Given the description of an element on the screen output the (x, y) to click on. 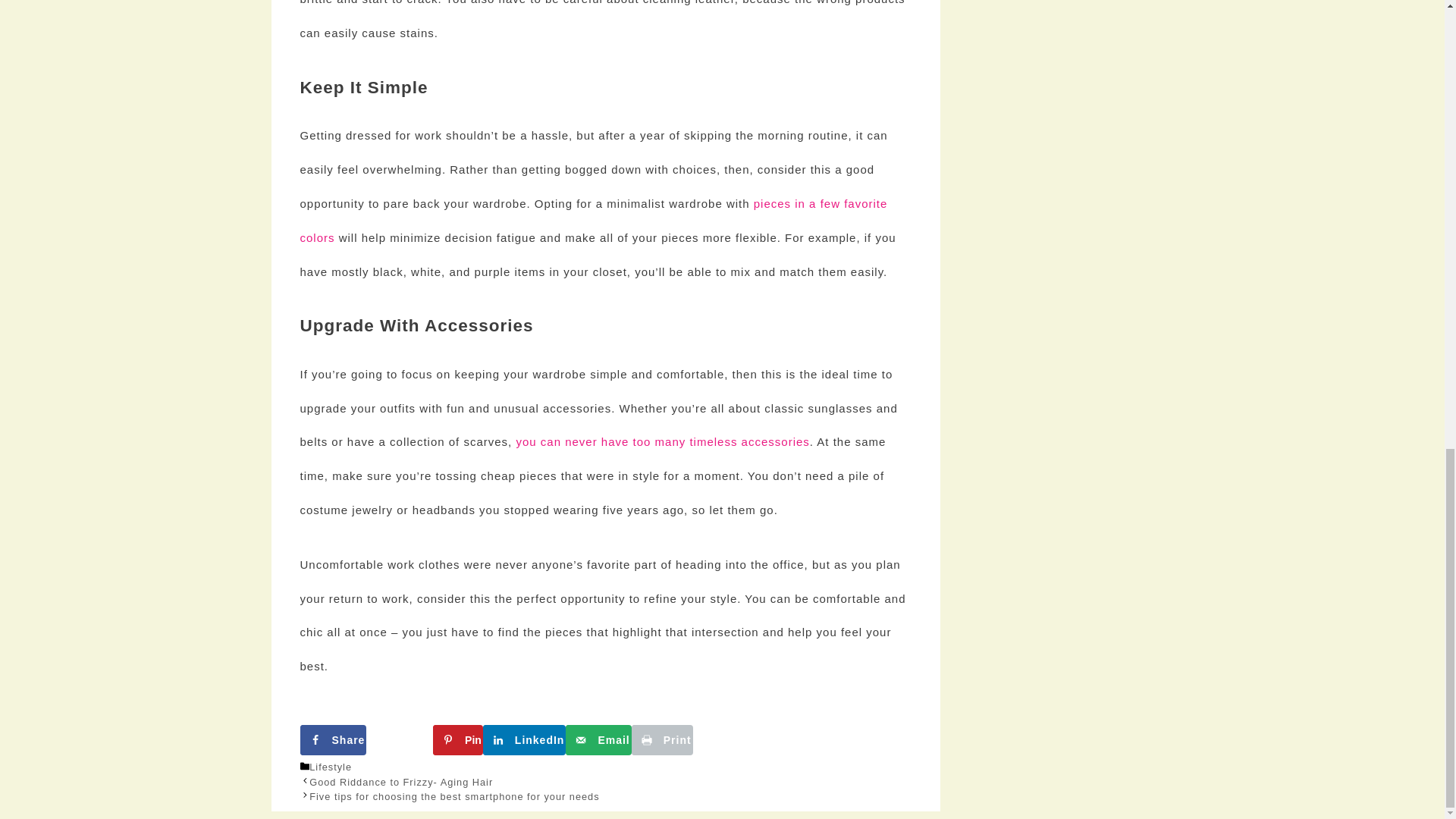
Share on Facebook (332, 739)
Share on X (399, 739)
Share on LinkedIn (524, 739)
Save to Pinterest (457, 739)
Send over email (598, 739)
Print this webpage (662, 739)
